Given the description of an element on the screen output the (x, y) to click on. 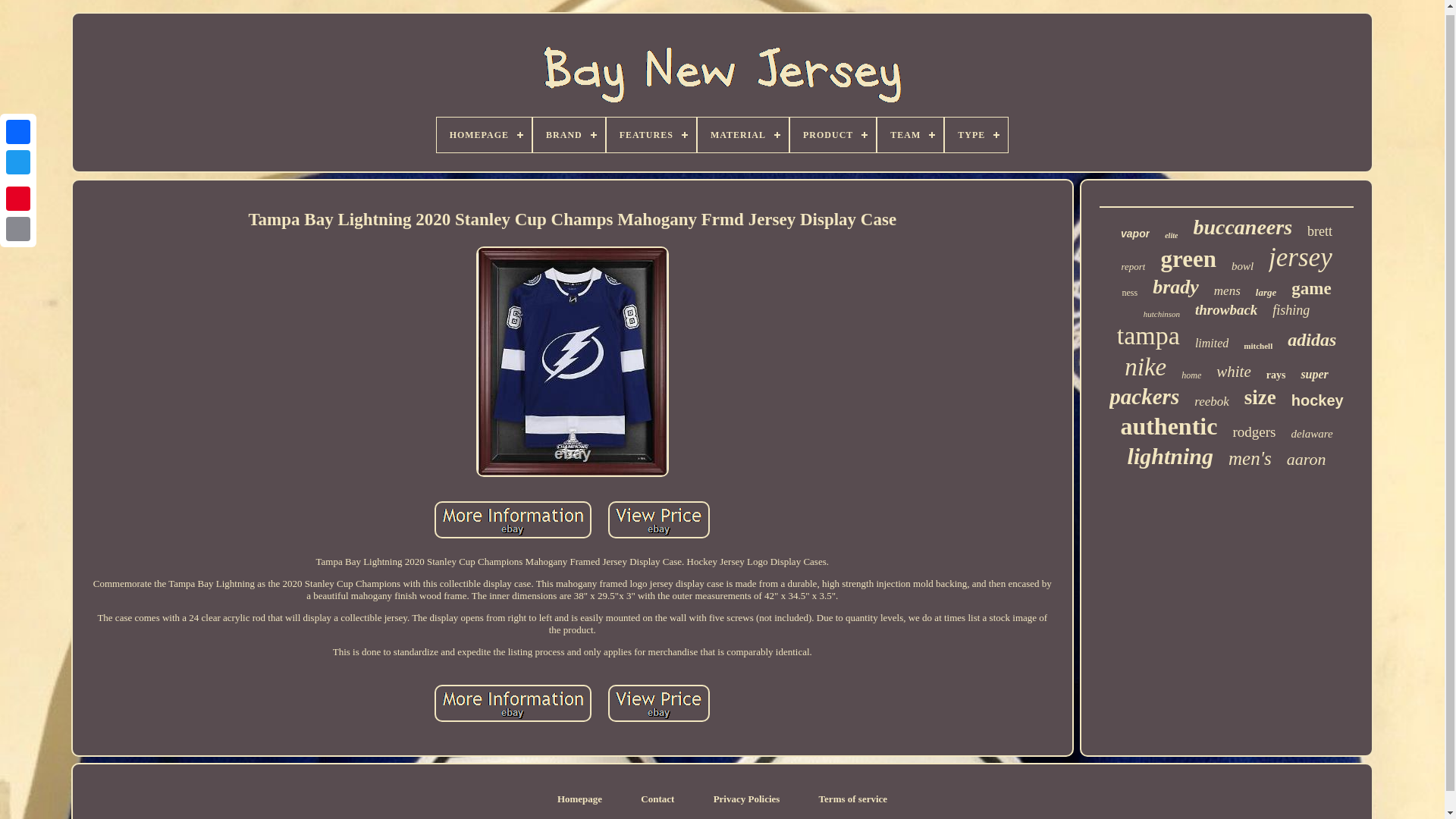
BRAND (568, 134)
MATERIAL (743, 134)
HOMEPAGE (483, 134)
FEATURES (651, 134)
